Given the description of an element on the screen output the (x, y) to click on. 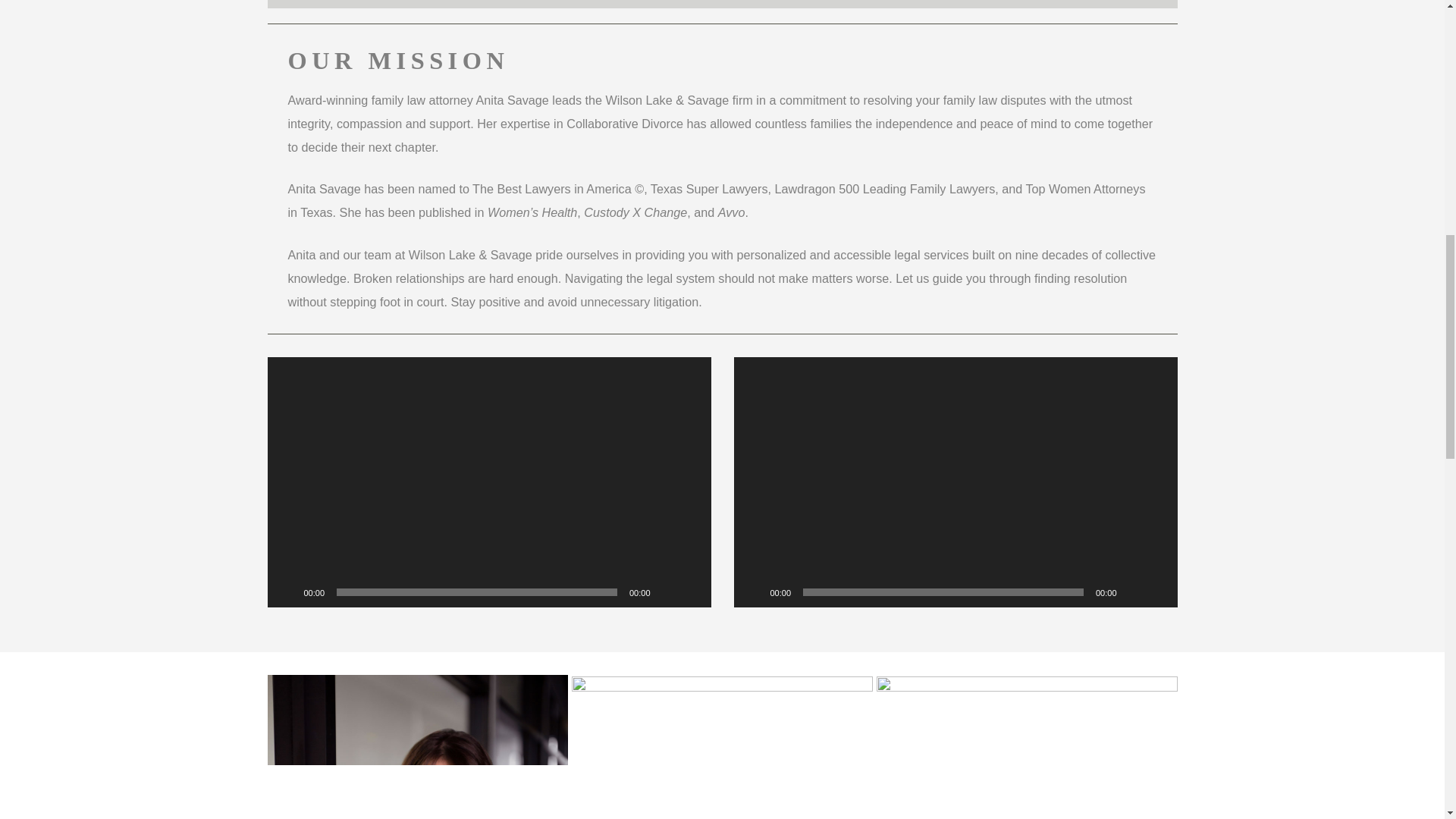
Mute (1132, 591)
Play (753, 591)
Fullscreen (691, 591)
Fullscreen (1157, 591)
Mute (667, 591)
Play (286, 591)
